Given the description of an element on the screen output the (x, y) to click on. 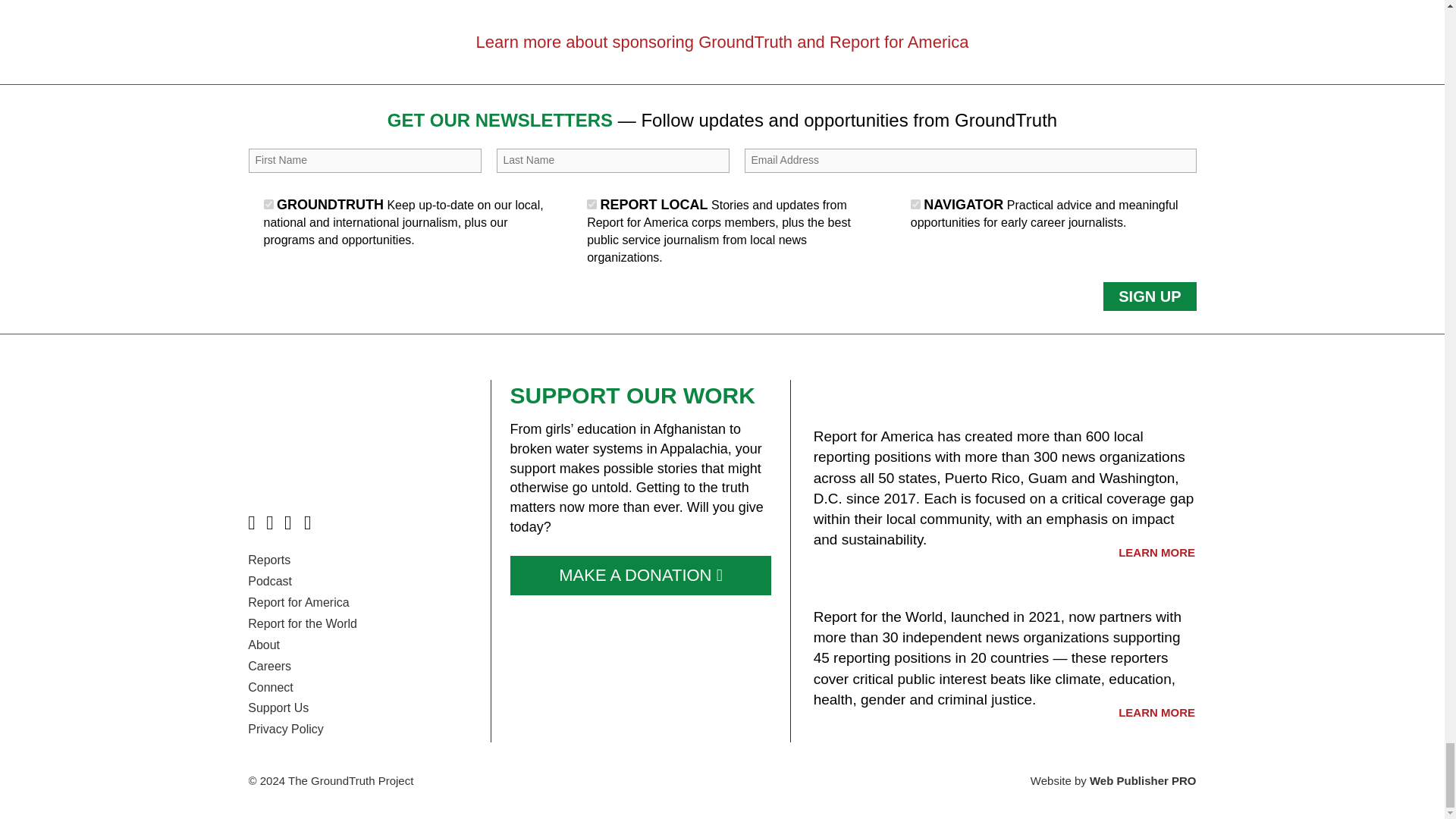
SIGN UP (1149, 296)
9afb6f4318 (268, 204)
0acc19ac1d (591, 204)
154e6ed2ca (915, 204)
